Given the description of an element on the screen output the (x, y) to click on. 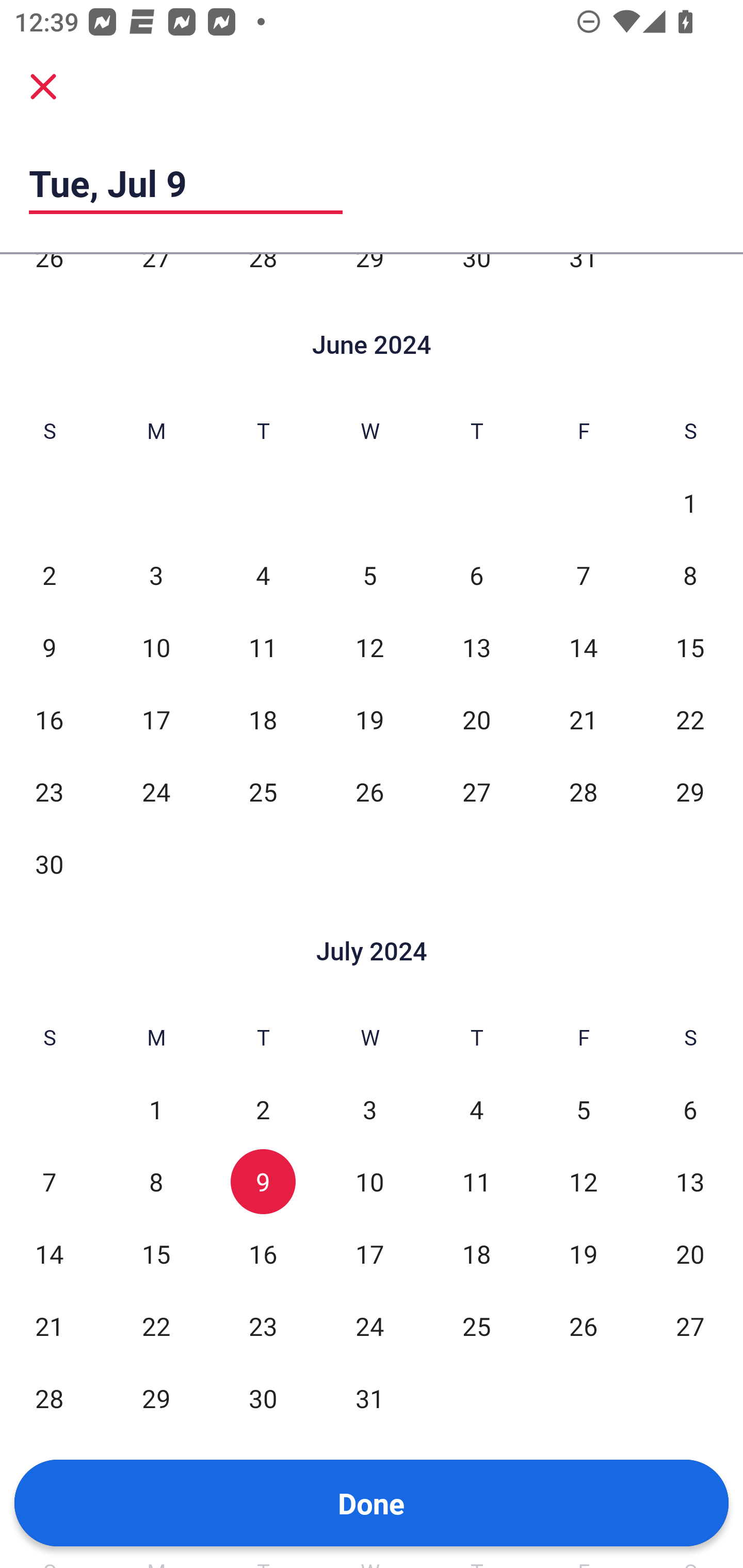
Cancel (43, 86)
Tue, Jul 9 (185, 182)
1 Sat, Jun 1, Not Selected (690, 503)
2 Sun, Jun 2, Not Selected (49, 575)
3 Mon, Jun 3, Not Selected (156, 575)
4 Tue, Jun 4, Not Selected (263, 575)
5 Wed, Jun 5, Not Selected (369, 575)
6 Thu, Jun 6, Not Selected (476, 575)
7 Fri, Jun 7, Not Selected (583, 575)
8 Sat, Jun 8, Not Selected (690, 575)
9 Sun, Jun 9, Not Selected (49, 647)
10 Mon, Jun 10, Not Selected (156, 647)
11 Tue, Jun 11, Not Selected (263, 647)
12 Wed, Jun 12, Not Selected (369, 647)
13 Thu, Jun 13, Not Selected (476, 647)
14 Fri, Jun 14, Not Selected (583, 647)
15 Sat, Jun 15, Not Selected (690, 647)
16 Sun, Jun 16, Not Selected (49, 719)
17 Mon, Jun 17, Not Selected (156, 719)
18 Tue, Jun 18, Not Selected (263, 719)
19 Wed, Jun 19, Not Selected (369, 719)
20 Thu, Jun 20, Not Selected (476, 719)
21 Fri, Jun 21, Not Selected (583, 719)
22 Sat, Jun 22, Not Selected (690, 719)
23 Sun, Jun 23, Not Selected (49, 791)
24 Mon, Jun 24, Not Selected (156, 791)
25 Tue, Jun 25, Not Selected (263, 791)
26 Wed, Jun 26, Not Selected (369, 791)
27 Thu, Jun 27, Not Selected (476, 791)
28 Fri, Jun 28, Not Selected (583, 791)
29 Sat, Jun 29, Not Selected (690, 791)
30 Sun, Jun 30, Not Selected (49, 863)
1 Mon, Jul 1, Not Selected (156, 1110)
2 Tue, Jul 2, Not Selected (263, 1110)
3 Wed, Jul 3, Not Selected (369, 1110)
4 Thu, Jul 4, Not Selected (476, 1110)
5 Fri, Jul 5, Not Selected (583, 1110)
6 Sat, Jul 6, Not Selected (690, 1110)
7 Sun, Jul 7, Not Selected (49, 1182)
8 Mon, Jul 8, Not Selected (156, 1182)
9 Tue, Jul 9, Selected (263, 1182)
10 Wed, Jul 10, Not Selected (369, 1182)
11 Thu, Jul 11, Not Selected (476, 1182)
12 Fri, Jul 12, Not Selected (583, 1182)
13 Sat, Jul 13, Not Selected (690, 1182)
14 Sun, Jul 14, Not Selected (49, 1254)
15 Mon, Jul 15, Not Selected (156, 1254)
16 Tue, Jul 16, Not Selected (263, 1254)
17 Wed, Jul 17, Not Selected (369, 1254)
18 Thu, Jul 18, Not Selected (476, 1254)
